Given the description of an element on the screen output the (x, y) to click on. 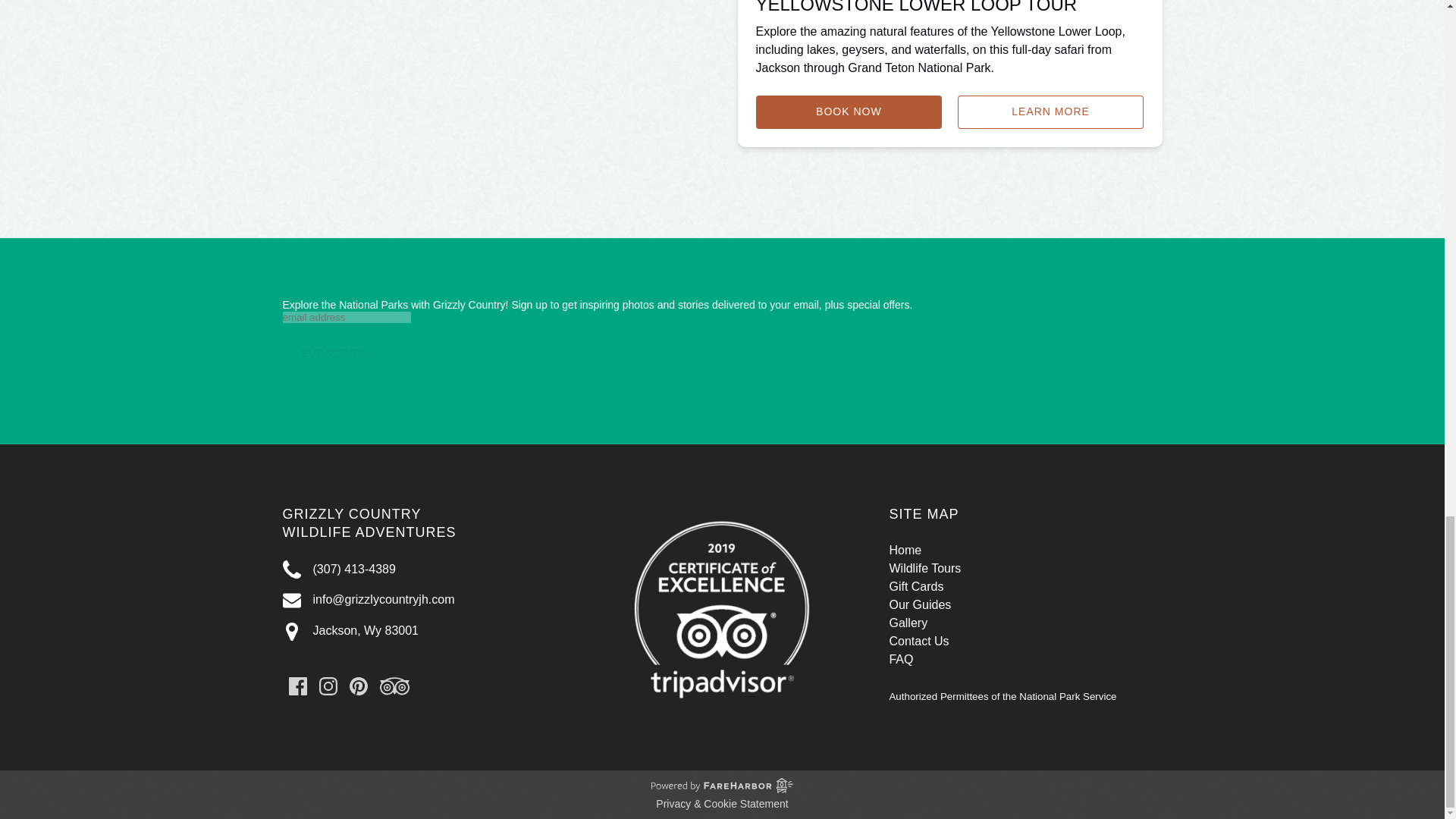
Visit our Facebook (296, 686)
Subscribe (334, 352)
Phone (290, 569)
Visit our TripAdvisor (393, 686)
Envelope (290, 600)
Visit our Pinterest (357, 686)
Map Marker (290, 631)
Wildlife Tours (924, 567)
Visit our Instagram (327, 686)
BOOK NOW (848, 111)
Home (904, 549)
TA-COE-2019-White (722, 607)
LEARN MORE (1051, 111)
Subscribe (334, 352)
YELLOWSTONE LOWER LOOP TOUR (916, 7)
